Given the description of an element on the screen output the (x, y) to click on. 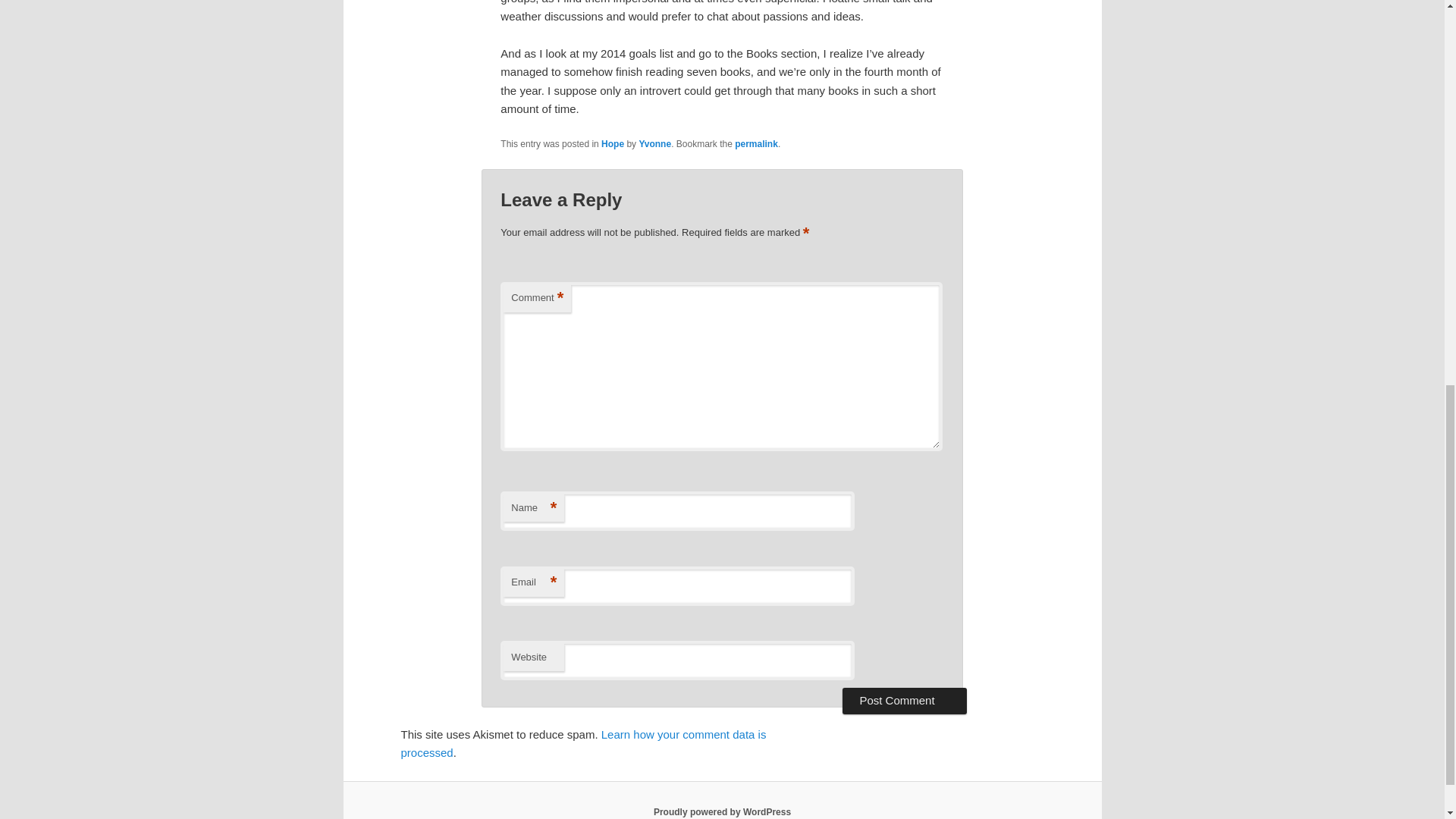
Yvonne (655, 143)
Permalink to Introversion (756, 143)
Post Comment (904, 700)
Hope (612, 143)
Semantic Personal Publishing Platform (721, 811)
permalink (756, 143)
Post Comment (904, 700)
Proudly powered by WordPress (721, 811)
Learn how your comment data is processed (582, 743)
